Given the description of an element on the screen output the (x, y) to click on. 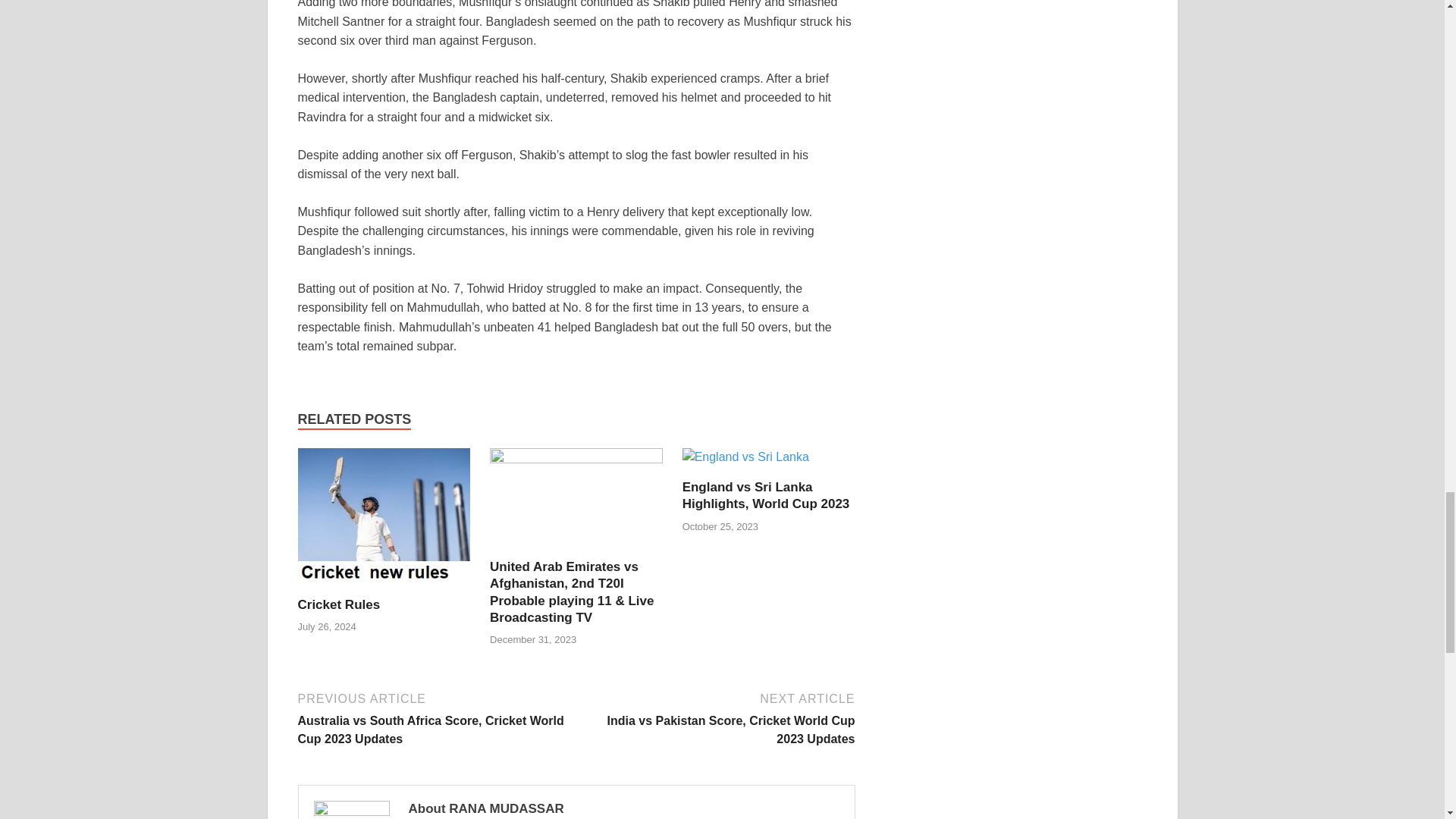
England vs Sri Lanka Highlights, World Cup 2023 (766, 495)
Cricket Rules (338, 604)
Cricket Rules (383, 521)
England vs Sri Lanka Highlights, World Cup 2023 (745, 462)
England vs Sri Lanka Highlights, World Cup 2023 (766, 495)
Cricket Rules (338, 604)
